Given the description of an element on the screen output the (x, y) to click on. 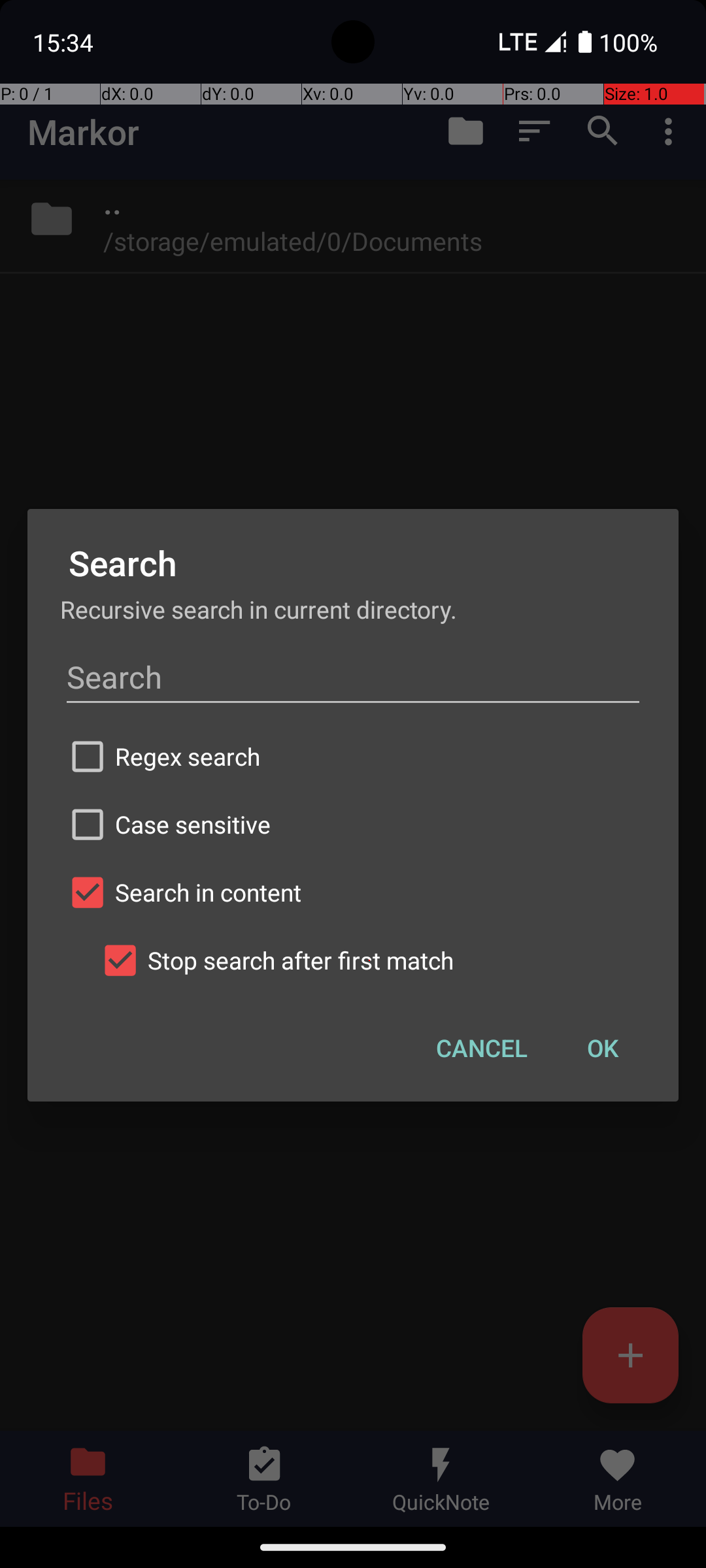
Recursive search in current directory. Element type: android.widget.TextView (352, 608)
Regex search Element type: android.widget.CheckBox (352, 756)
Case sensitive Element type: android.widget.CheckBox (352, 824)
Search in content Element type: android.widget.CheckBox (352, 892)
Stop search after first match Element type: android.widget.CheckBox (368, 959)
